Given the description of an element on the screen output the (x, y) to click on. 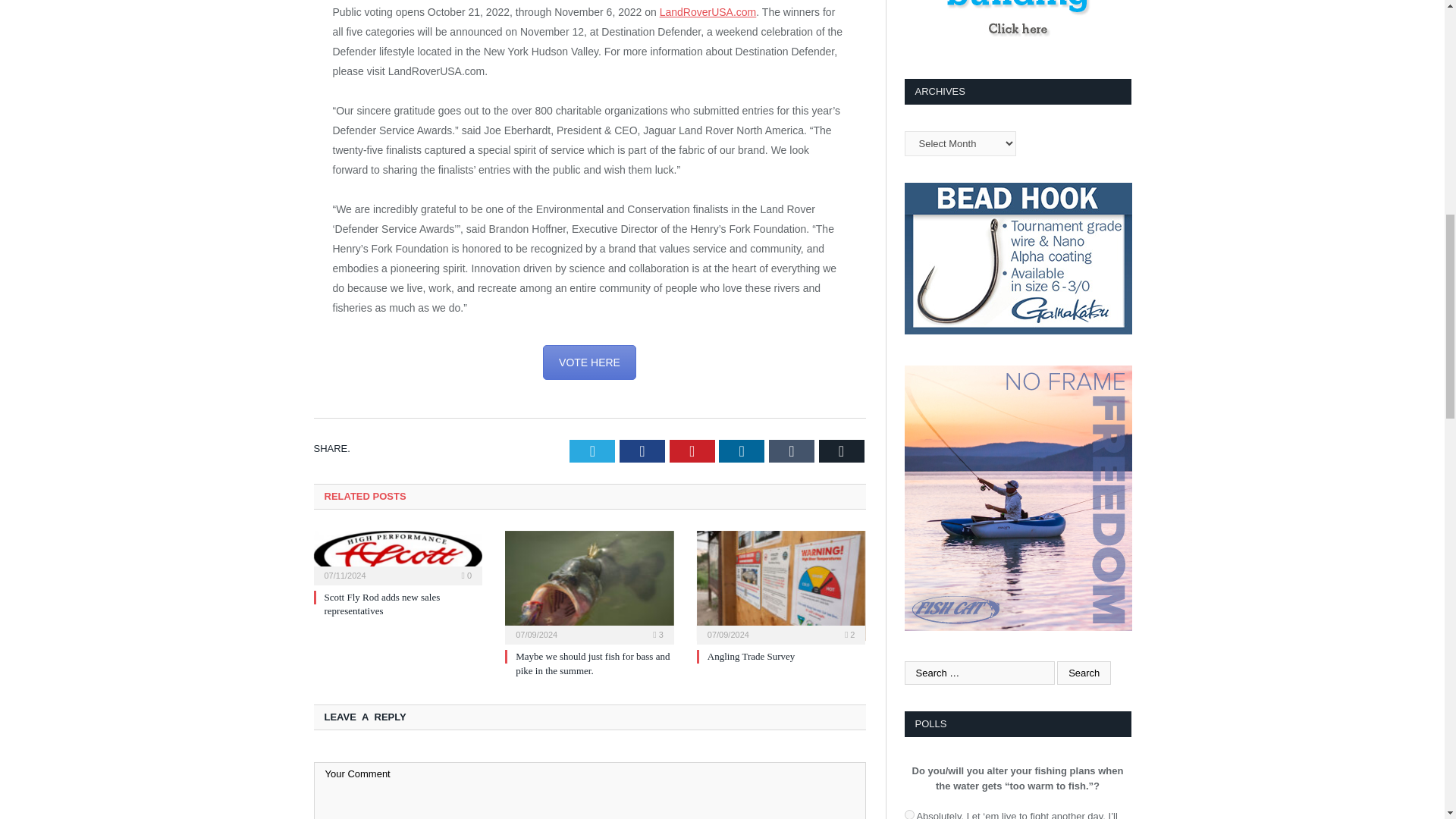
Email (841, 450)
Maybe we should just fish for bass and pike in the summer. (589, 585)
Scott Fly Rod adds new sales representatives (382, 603)
VOTE HERE (589, 362)
1220 (909, 814)
Scott Fly Rod adds new sales representatives (382, 603)
Search (1083, 672)
LinkedIn (741, 450)
Facebook (642, 450)
0 (466, 574)
Tumblr (790, 450)
Search (1083, 672)
Pinterest (691, 450)
Scott Fly Rod adds new sales representatives (398, 556)
Defender Service Award (589, 362)
